Given the description of an element on the screen output the (x, y) to click on. 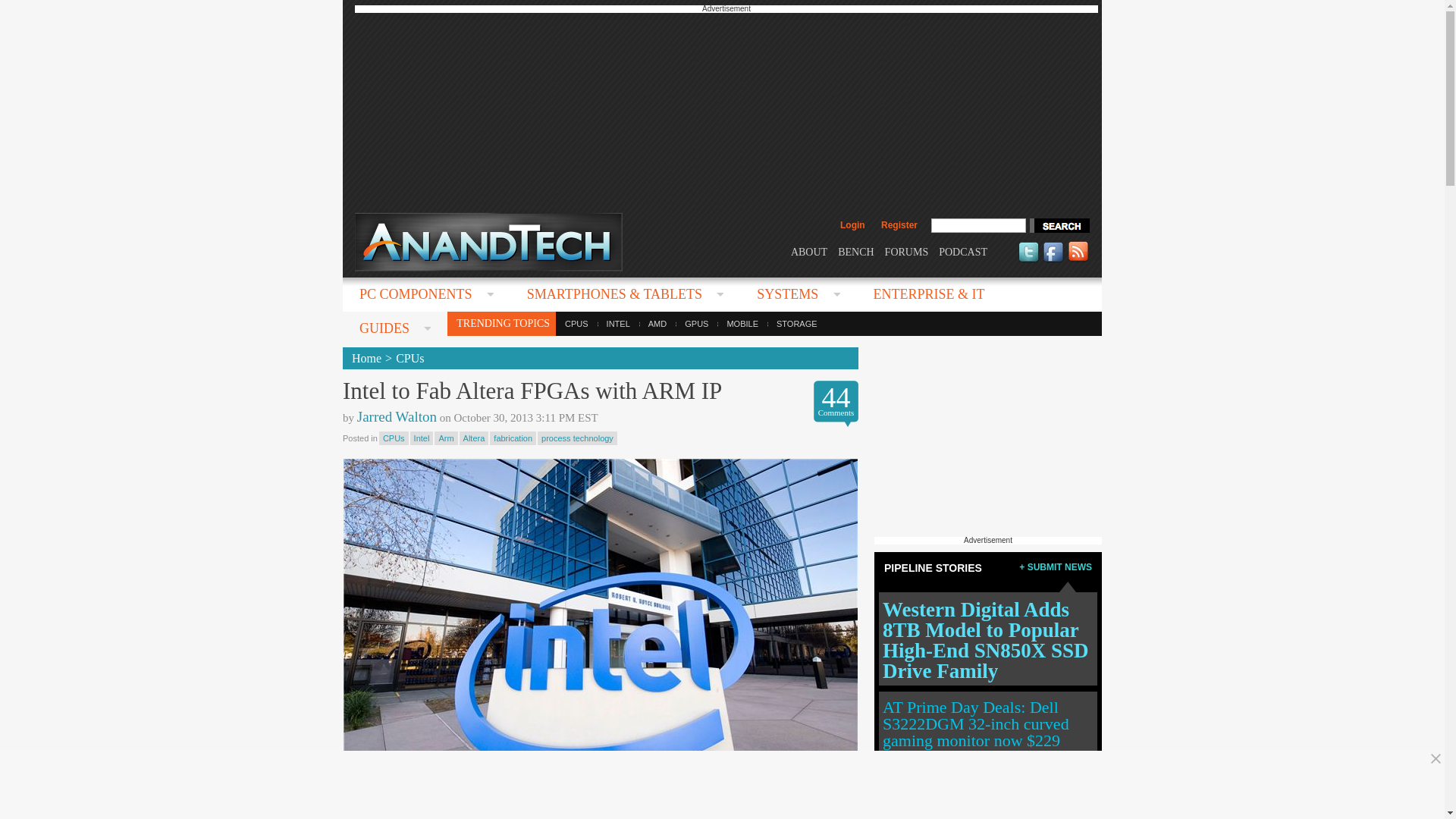
Login (852, 225)
FORUMS (906, 251)
Register (898, 225)
ABOUT (808, 251)
search (1059, 225)
search (1059, 225)
PODCAST (963, 251)
search (1059, 225)
BENCH (855, 251)
